Given the description of an element on the screen output the (x, y) to click on. 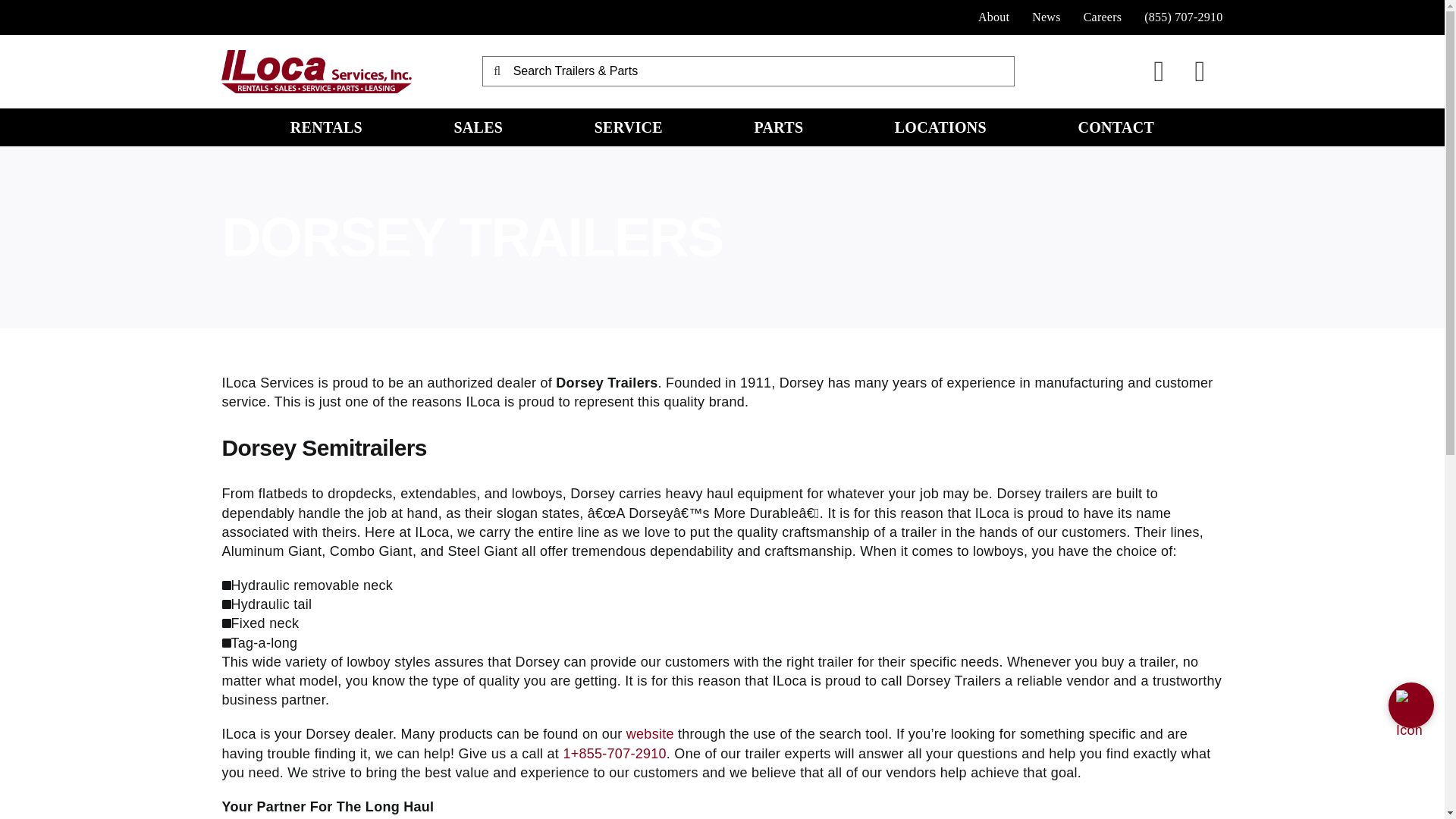
CONTACT (1115, 127)
SALES (477, 127)
About (993, 17)
website (650, 734)
SERVICE (628, 127)
LOCATIONS (941, 127)
Careers (1102, 17)
PARTS (778, 127)
News (1045, 17)
RENTALS (325, 127)
